Given the description of an element on the screen output the (x, y) to click on. 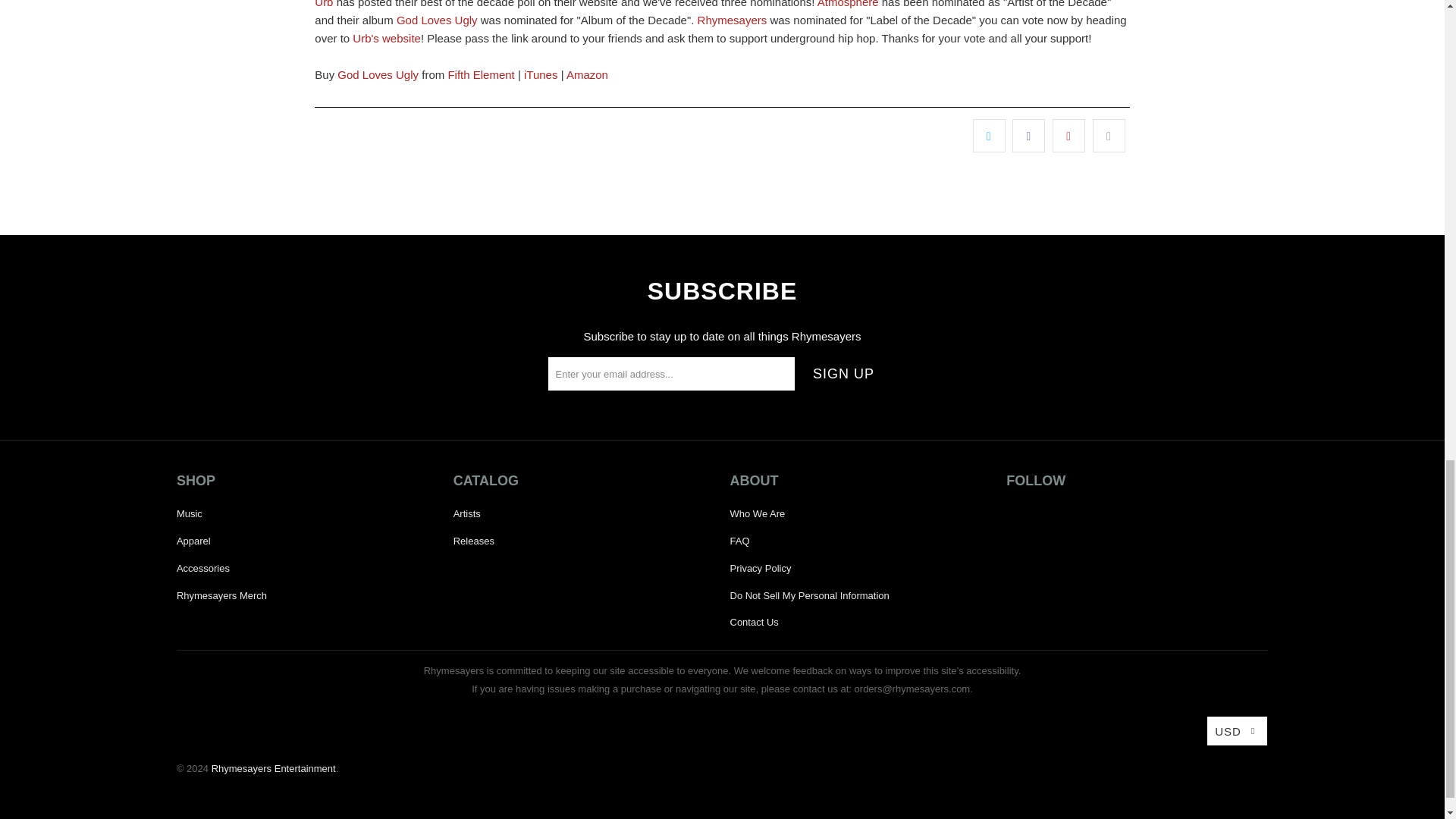
Sign Up (842, 373)
Email this to a friend (1109, 135)
Share this on Twitter (989, 135)
Share this on Facebook (1028, 135)
Share this on Pinterest (1068, 135)
